Given the description of an element on the screen output the (x, y) to click on. 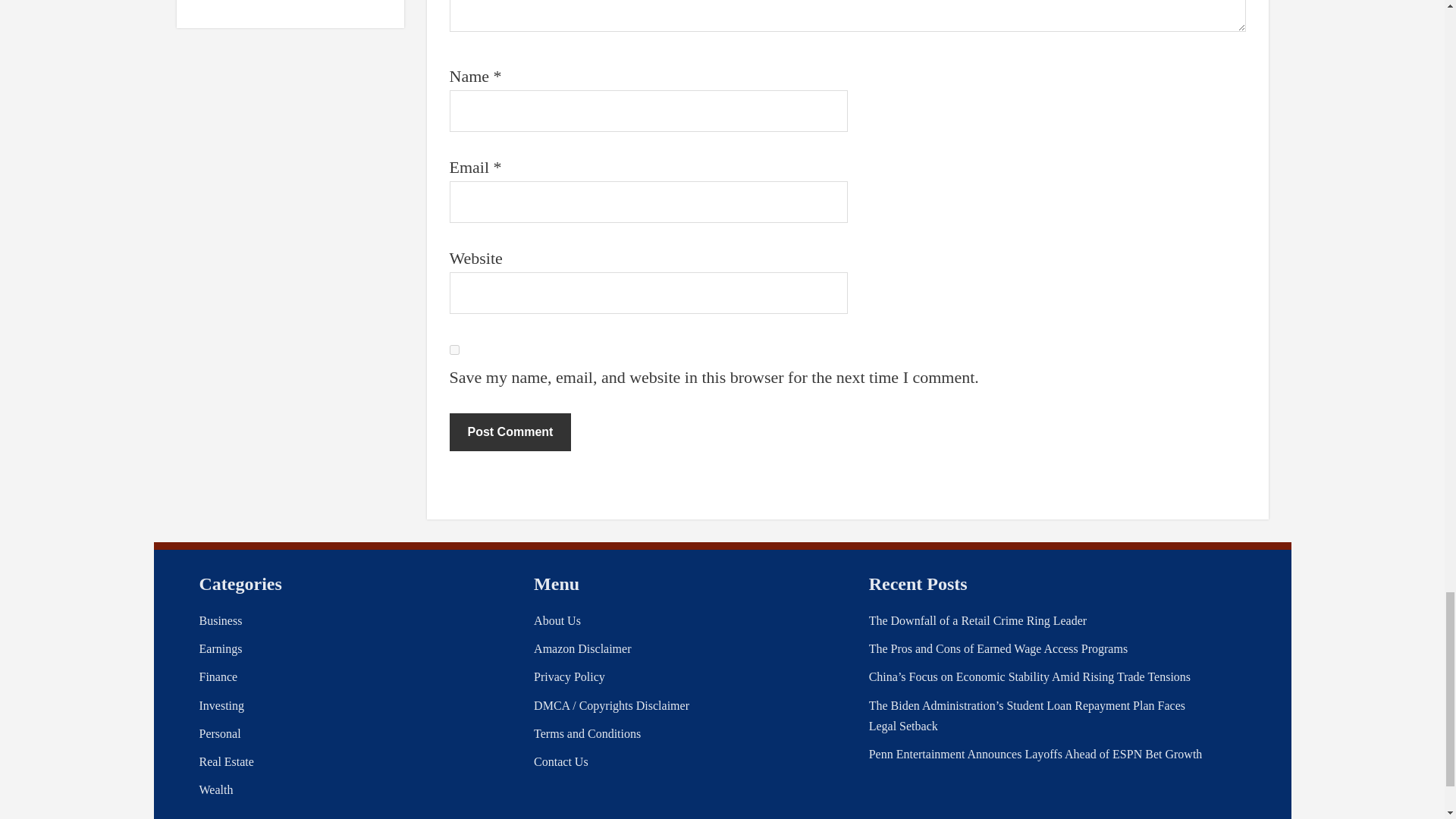
Post Comment (509, 432)
yes (453, 349)
